Given the description of an element on the screen output the (x, y) to click on. 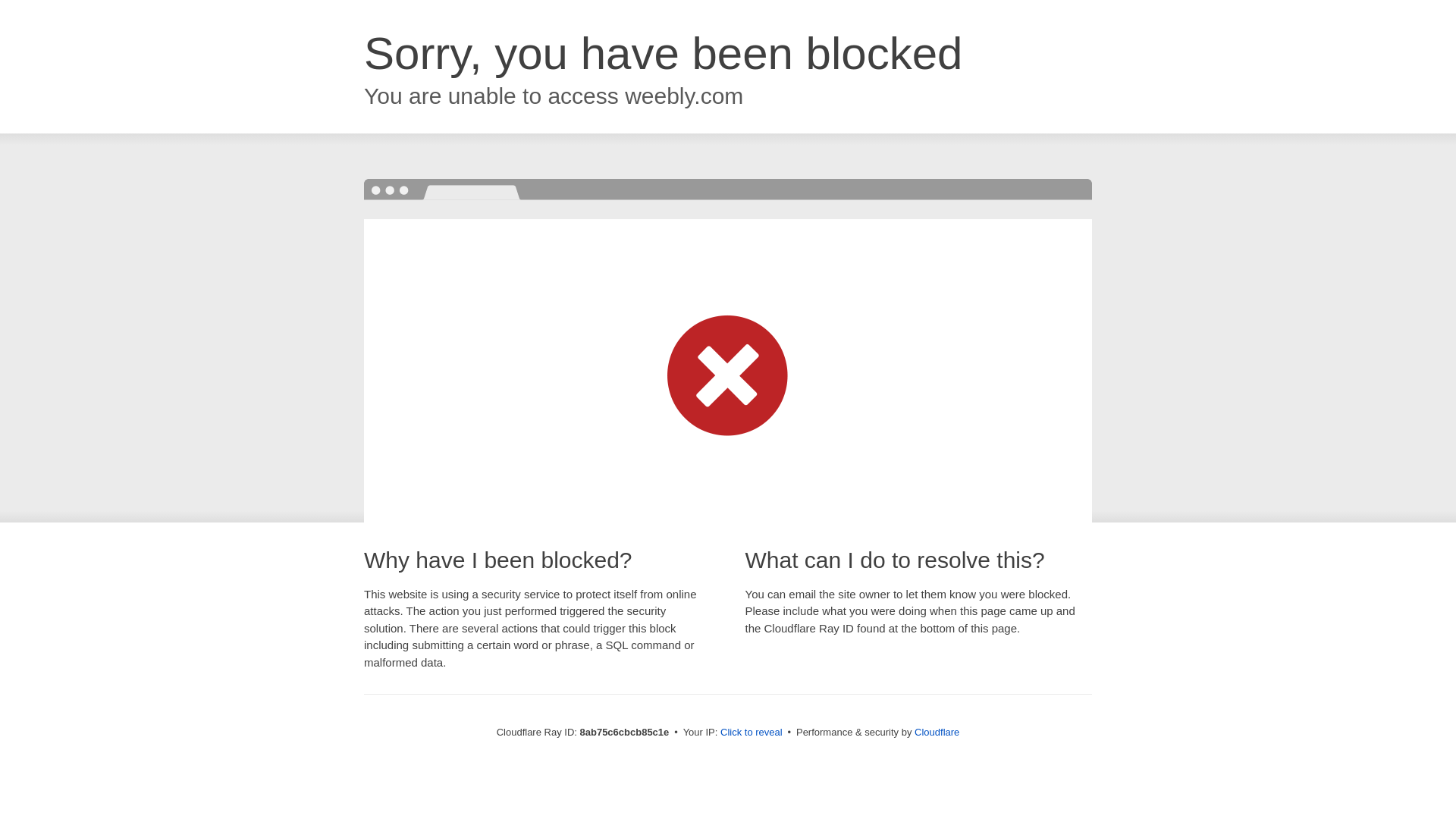
Cloudflare (936, 731)
Click to reveal (751, 732)
